Given the description of an element on the screen output the (x, y) to click on. 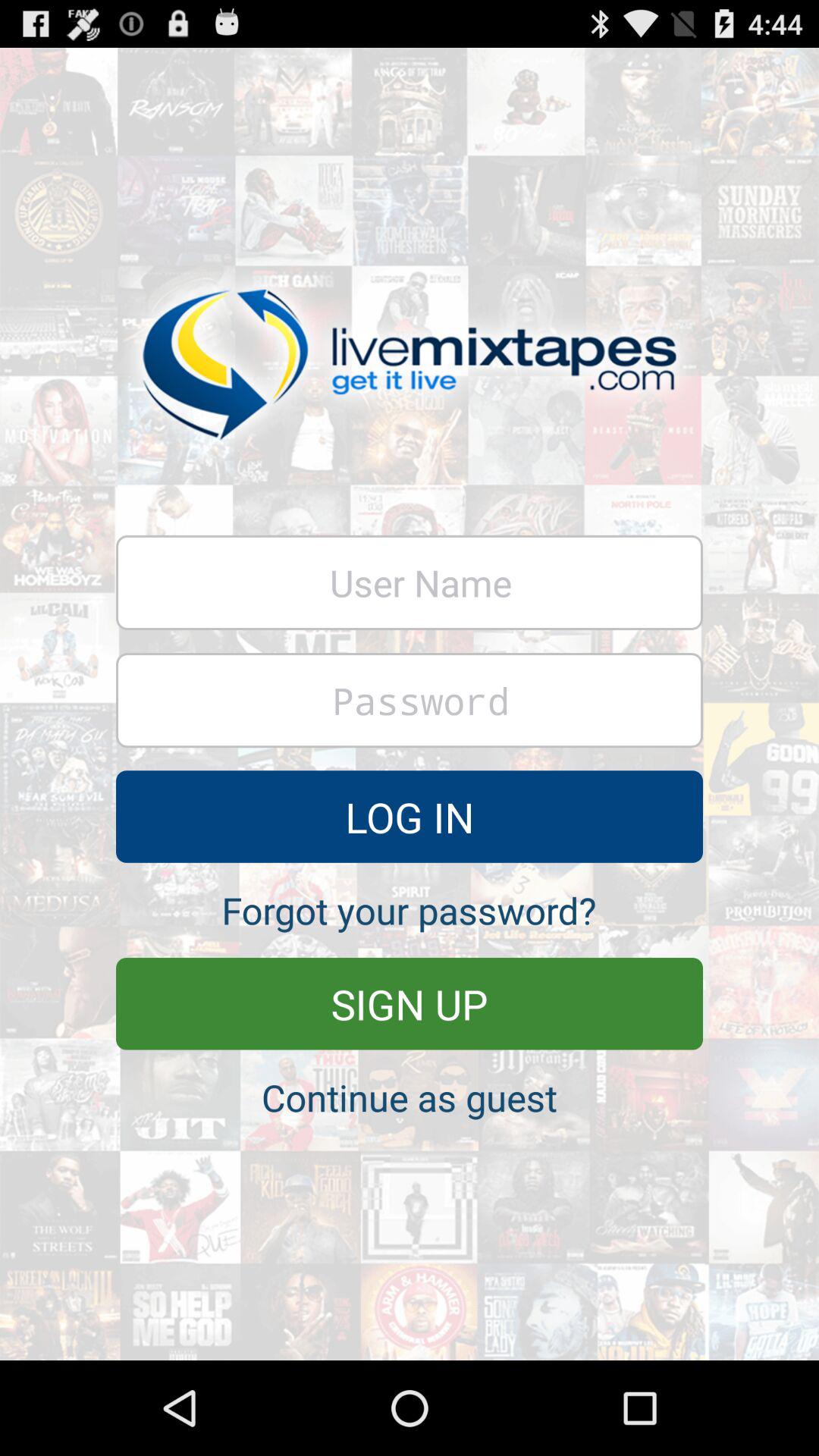
yeah perfect app for listning it in gym (409, 699)
